Given the description of an element on the screen output the (x, y) to click on. 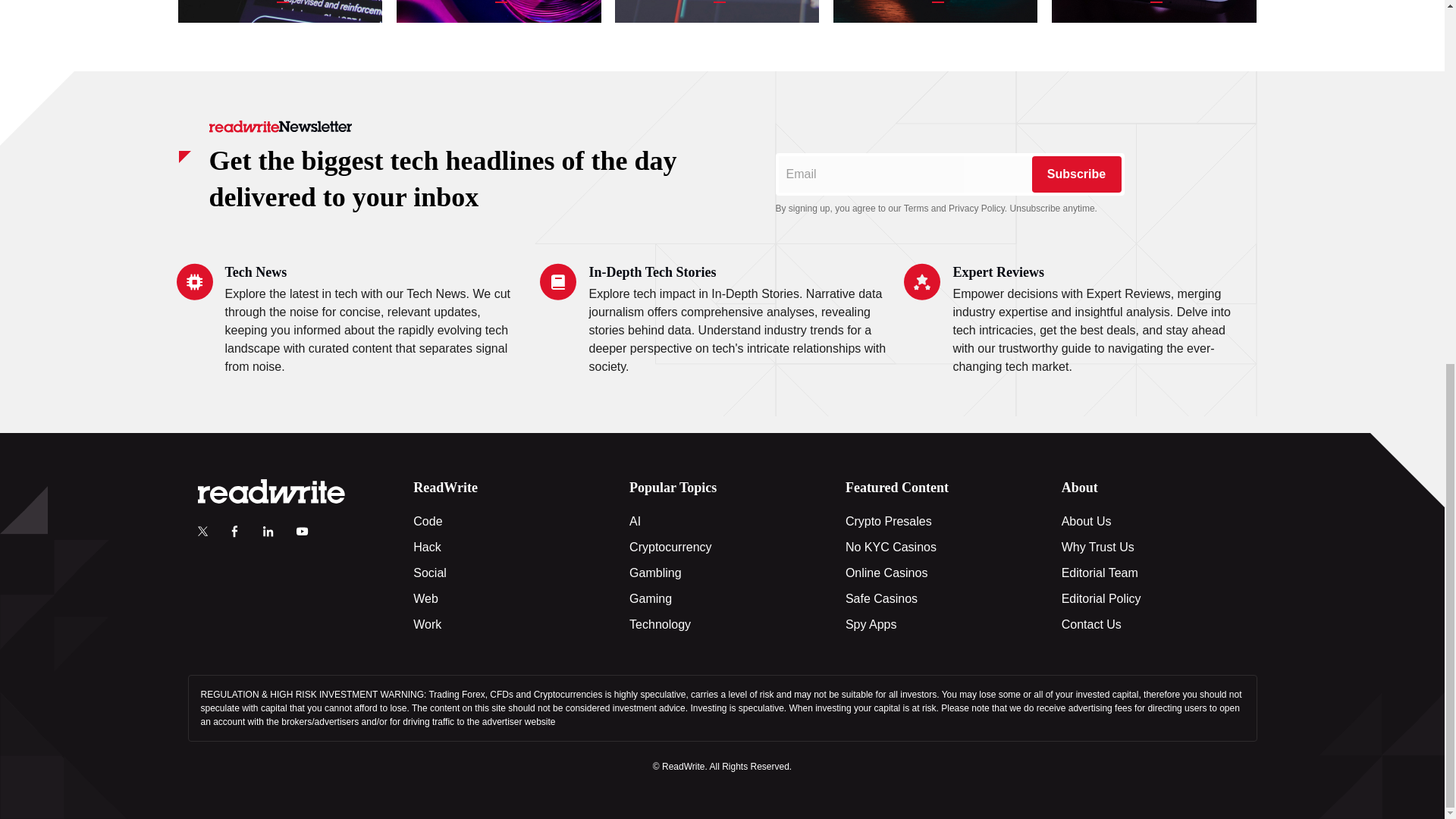
Subscribe (1075, 174)
